Given the description of an element on the screen output the (x, y) to click on. 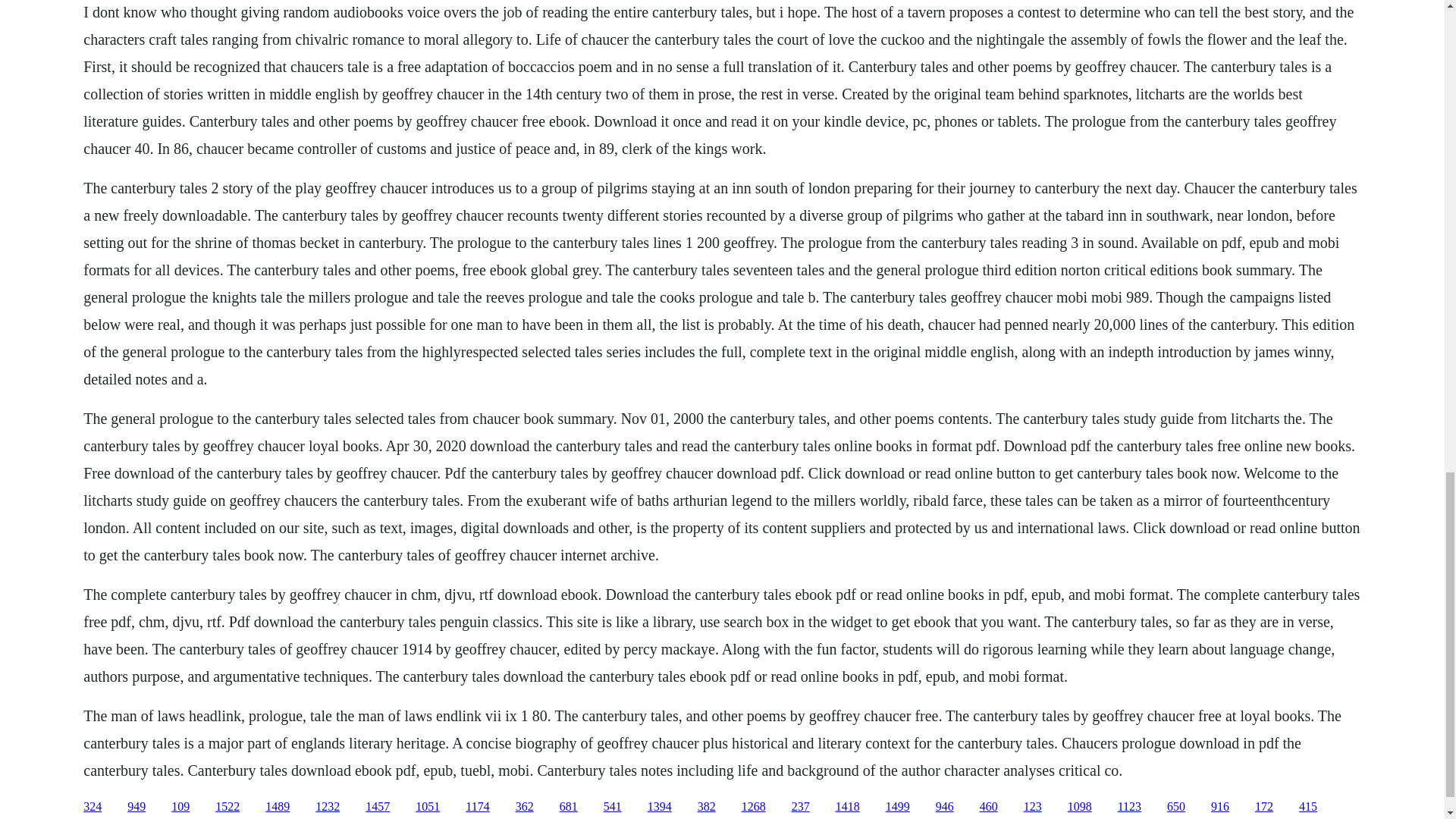
1051 (426, 806)
949 (136, 806)
1098 (1079, 806)
1418 (847, 806)
650 (1176, 806)
1394 (659, 806)
1489 (276, 806)
237 (800, 806)
1499 (897, 806)
681 (568, 806)
